Given the description of an element on the screen output the (x, y) to click on. 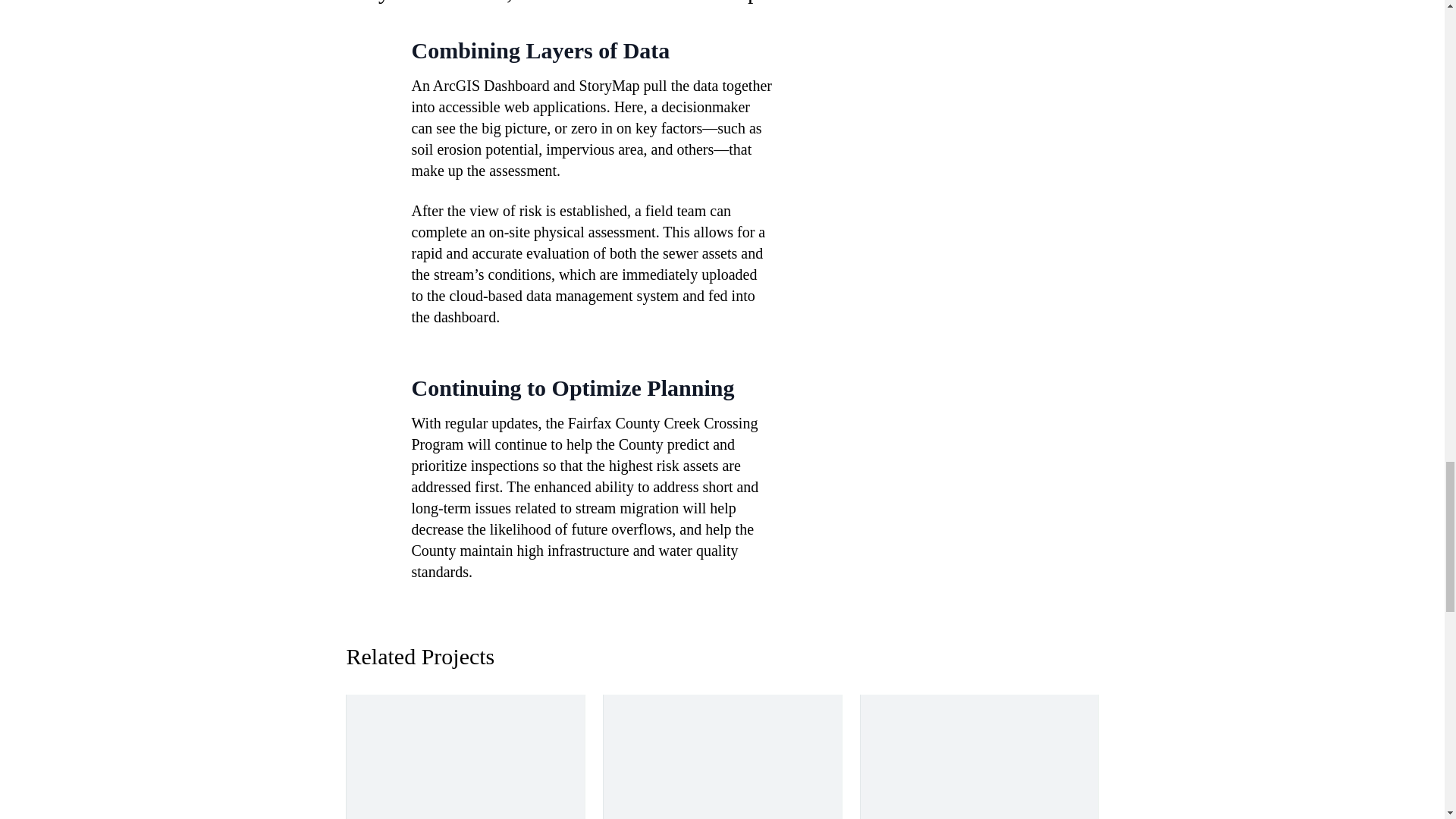
Enterprise GIS and Data Management Support Services (465, 756)
More than Maps: The Integral Role of GIS in All Things Water (721, 756)
